Given the description of an element on the screen output the (x, y) to click on. 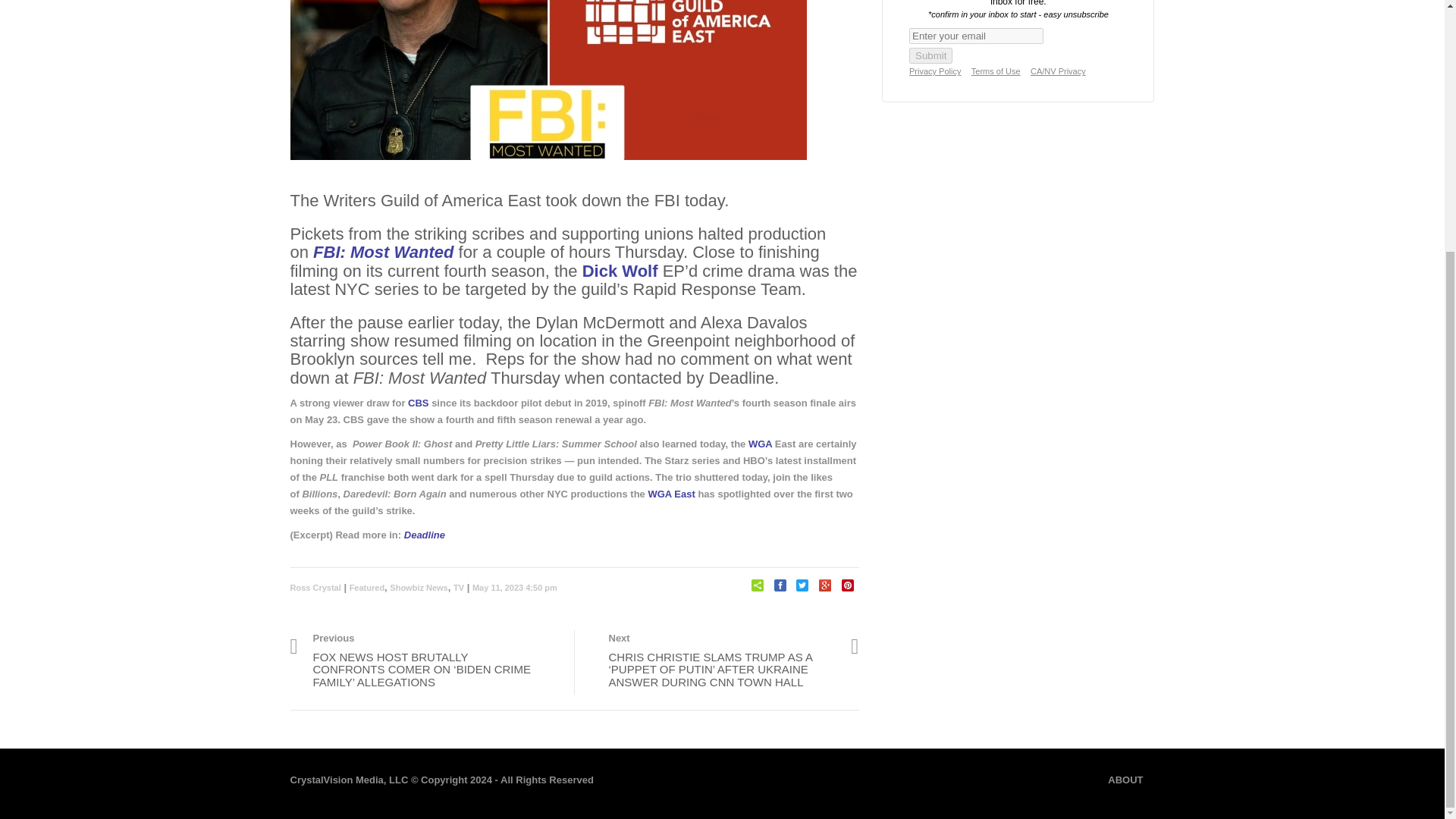
Posts by Ross Crystal (314, 587)
